Given the description of an element on the screen output the (x, y) to click on. 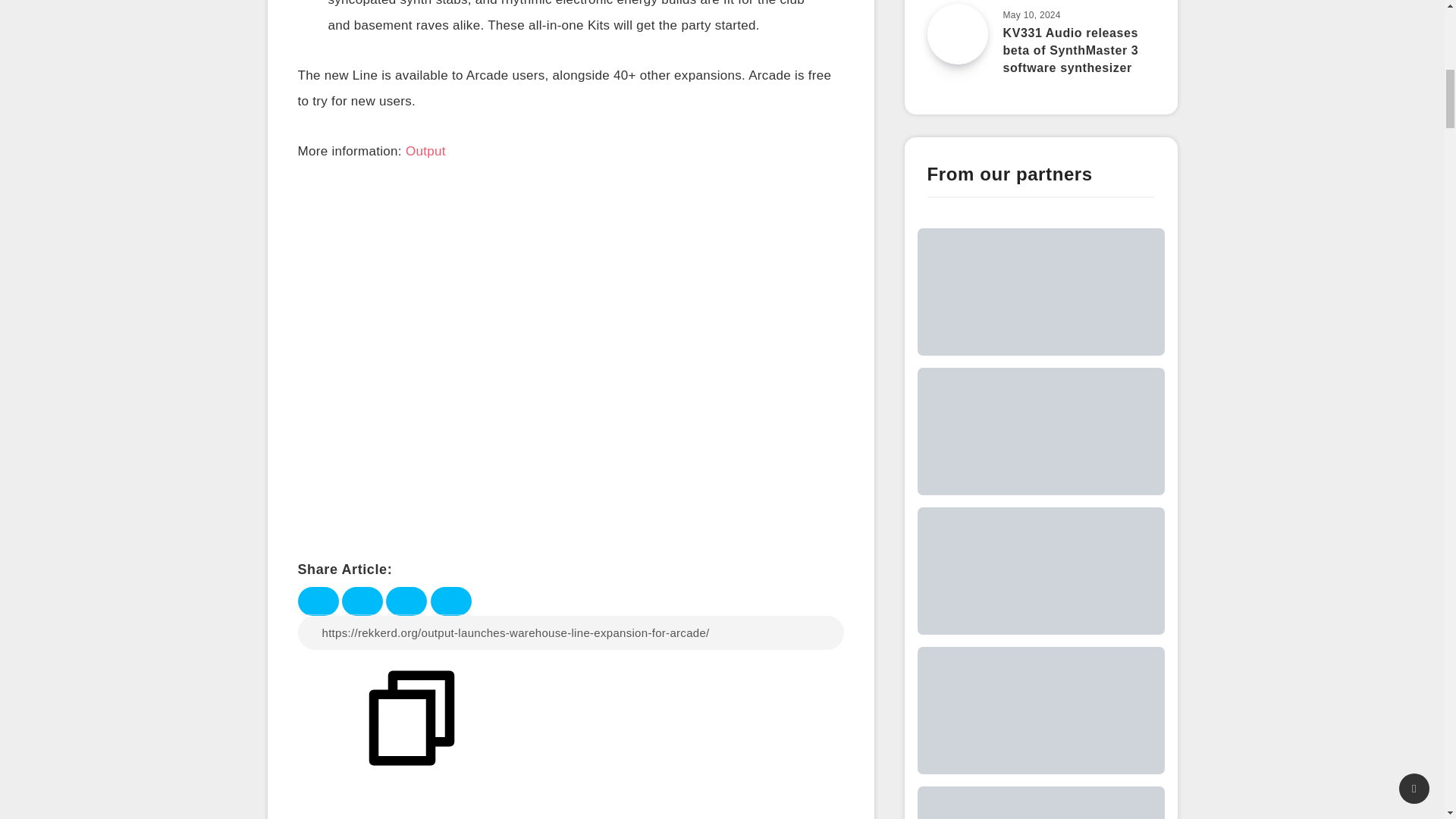
Output (425, 153)
